Given the description of an element on the screen output the (x, y) to click on. 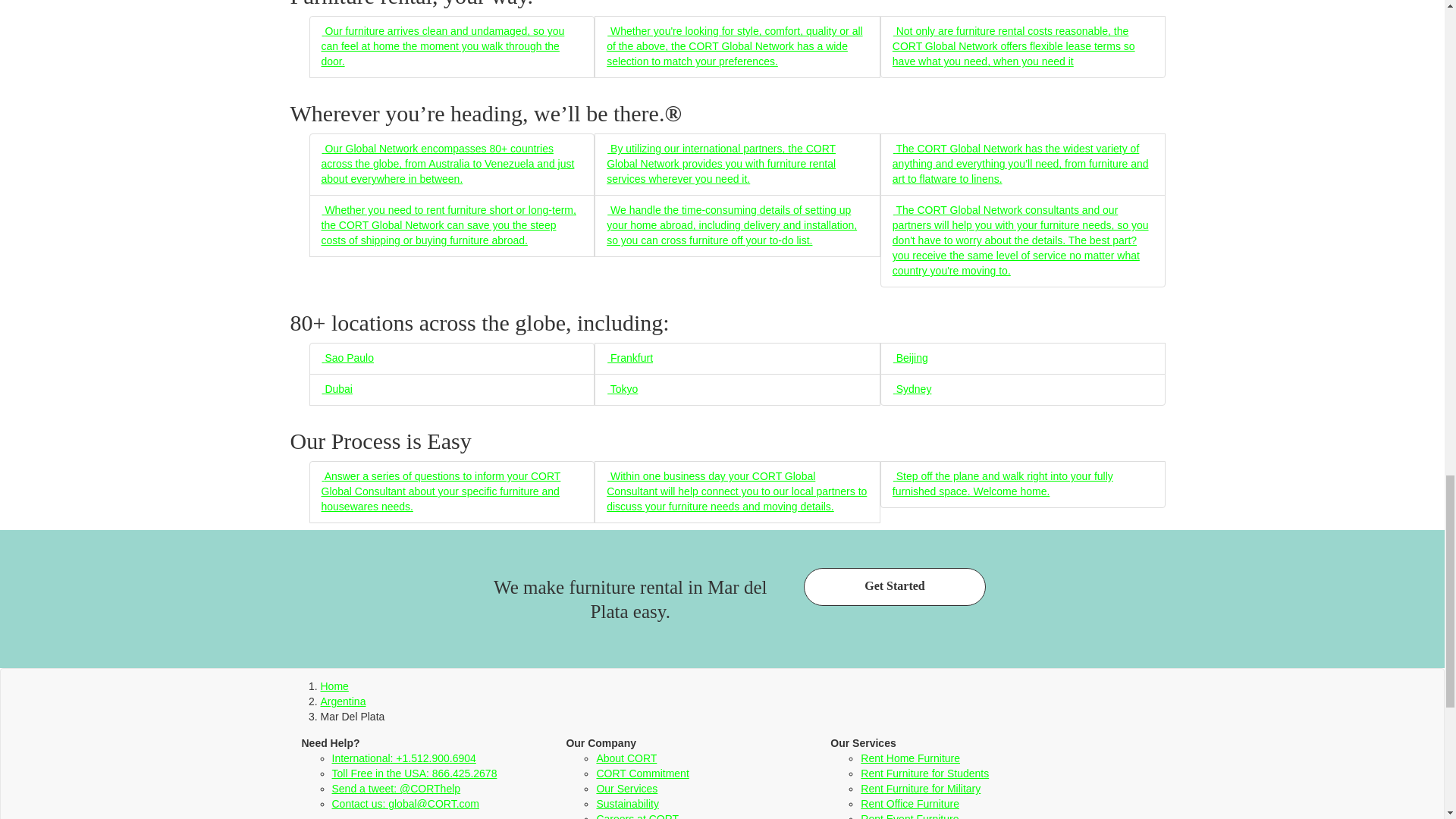
Get Started (894, 587)
Argentina (342, 701)
Dubai (336, 388)
Sao Paulo (347, 357)
Home (333, 686)
Sydney (911, 388)
